Given the description of an element on the screen output the (x, y) to click on. 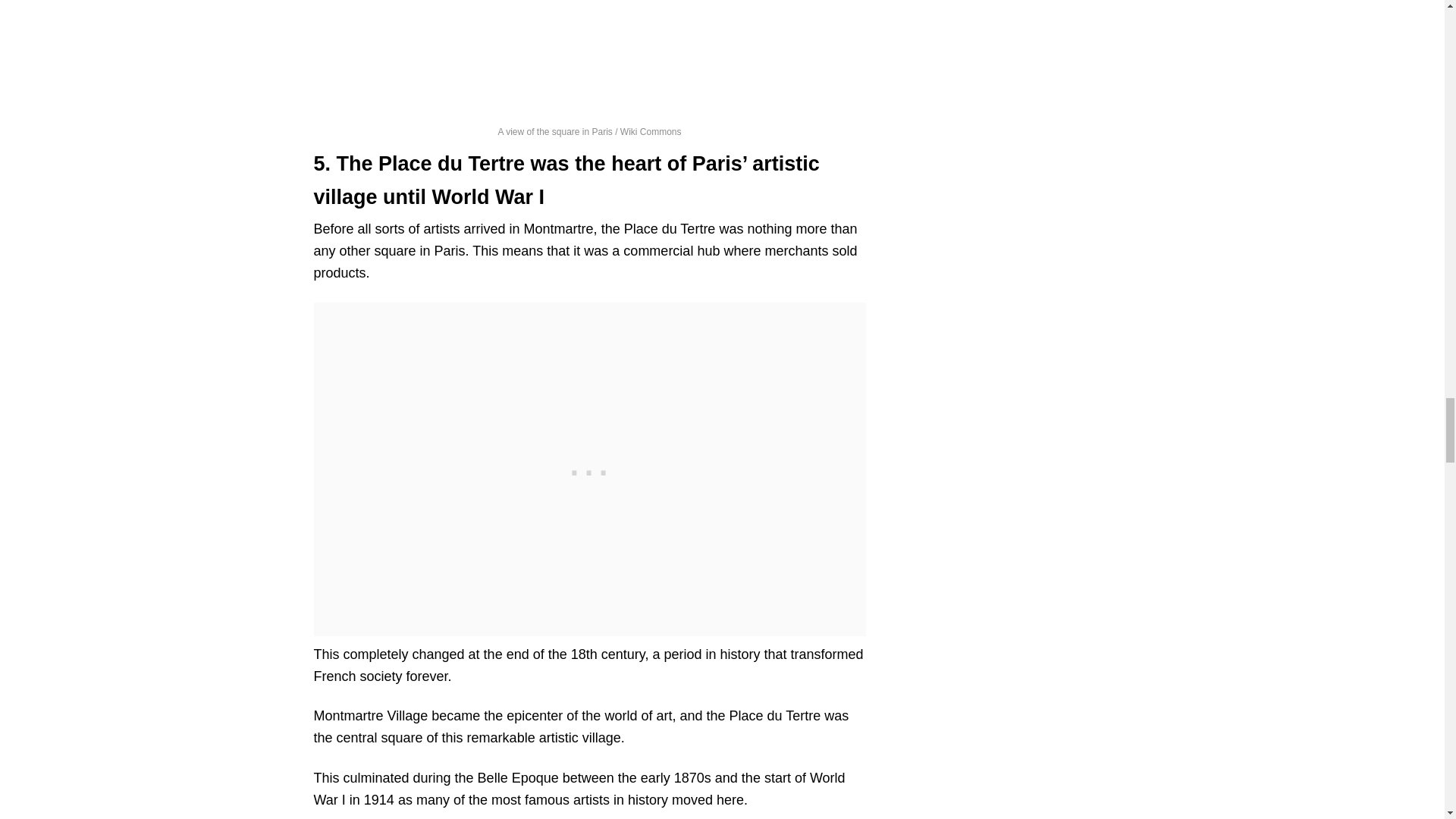
Top 8 Interesting Facts about the Place du Tertre 5 (590, 56)
